Given the description of an element on the screen output the (x, y) to click on. 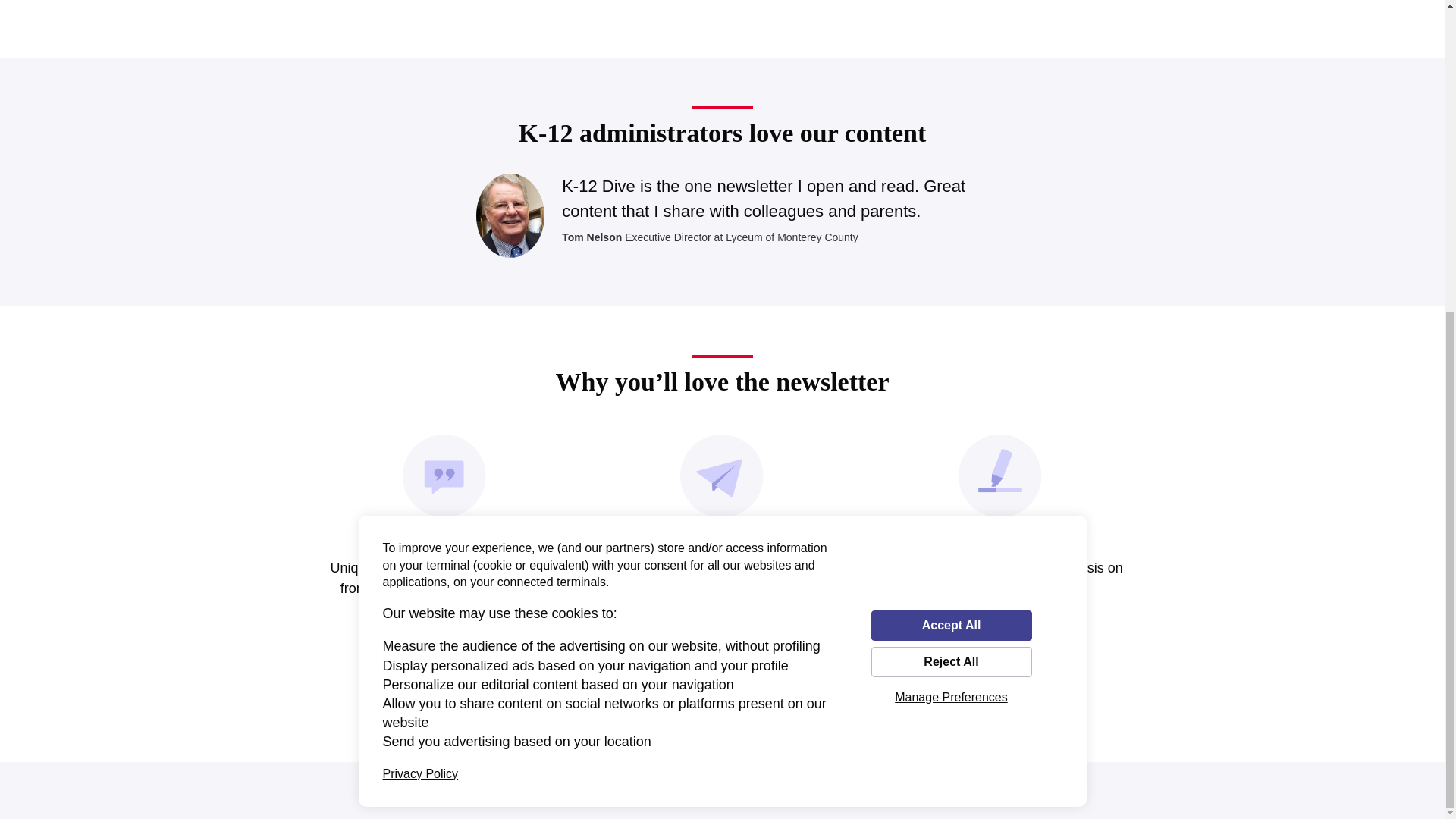
Advertise (639, 789)
Privacy Policy (419, 279)
Industry Dive (556, 789)
Get the newsletter (721, 652)
Accept All (950, 130)
Manage Preferences (950, 202)
Reject All (950, 166)
Privacy Policy (813, 789)
Terms of Use (718, 789)
